Given the description of an element on the screen output the (x, y) to click on. 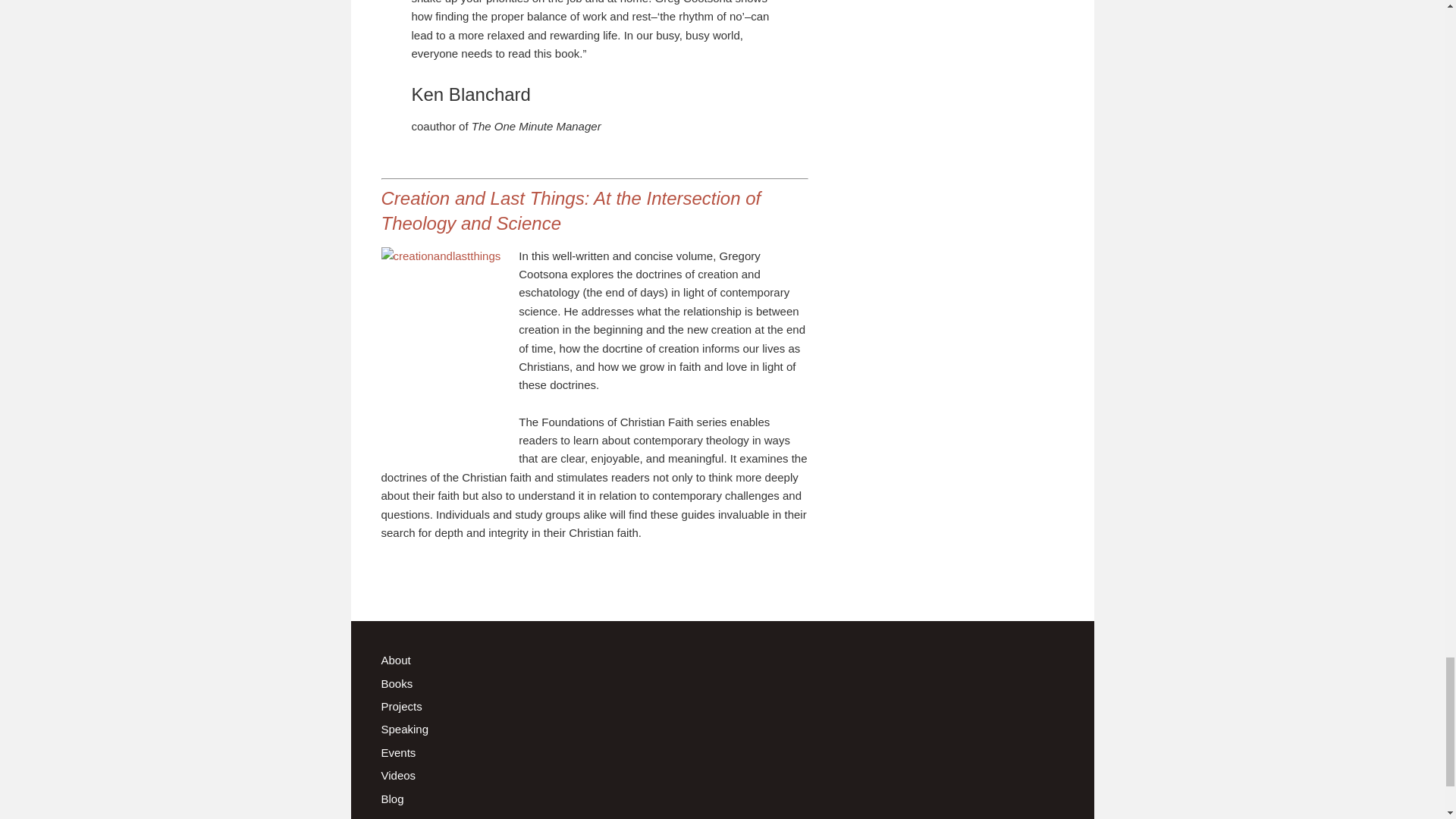
About (395, 659)
Books (396, 683)
Blog (391, 798)
Projects (401, 706)
Speaking (404, 728)
Videos (397, 775)
Events (397, 752)
